Given the description of an element on the screen output the (x, y) to click on. 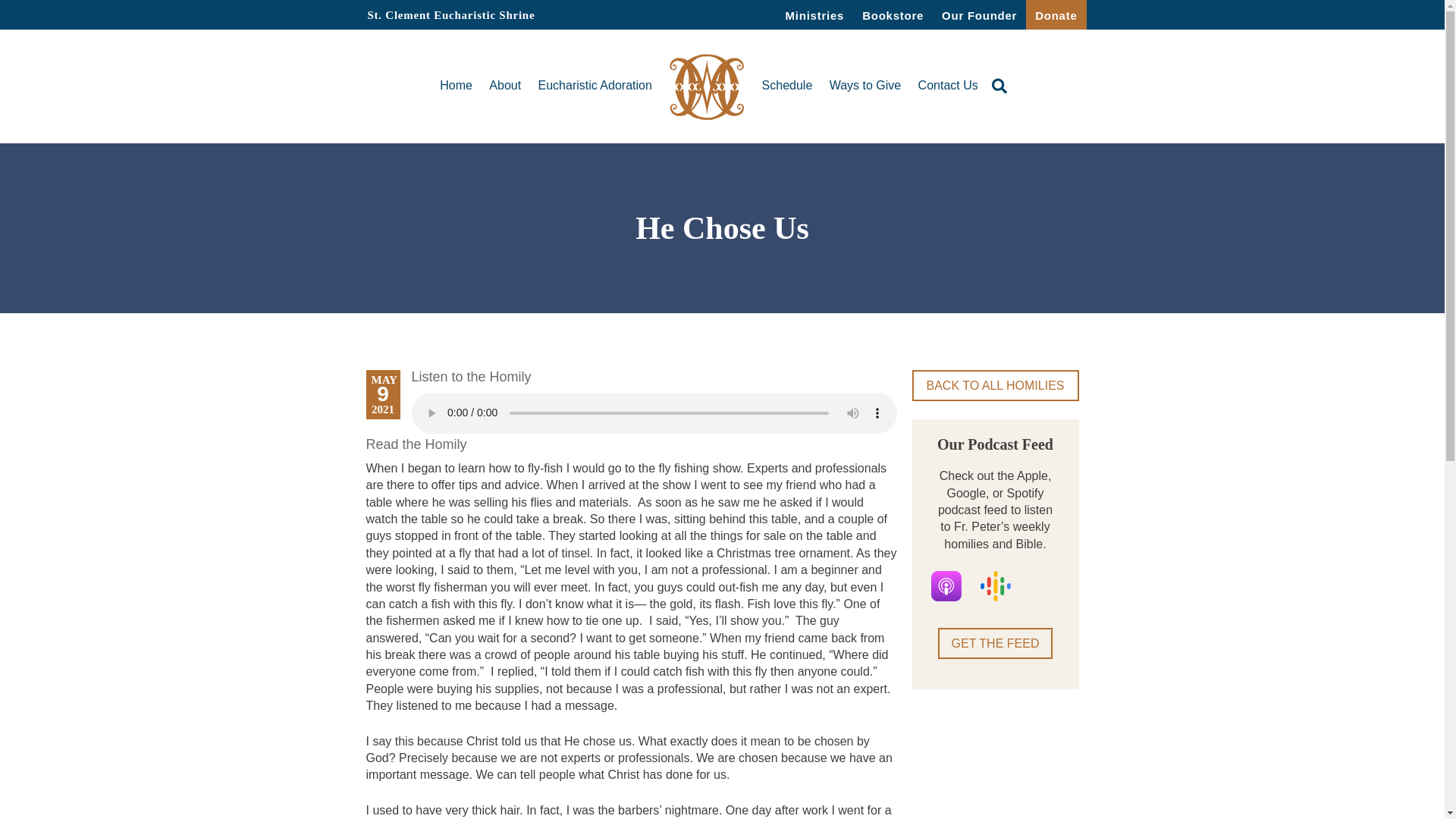
Contact Us (948, 85)
Bookstore (893, 14)
Ministries (814, 14)
Schedule (786, 85)
Home (455, 85)
Apple Podcasts (945, 585)
Eucharistic Adoration (595, 85)
Donate (1056, 14)
About (505, 85)
Our Founder (979, 14)
